Given the description of an element on the screen output the (x, y) to click on. 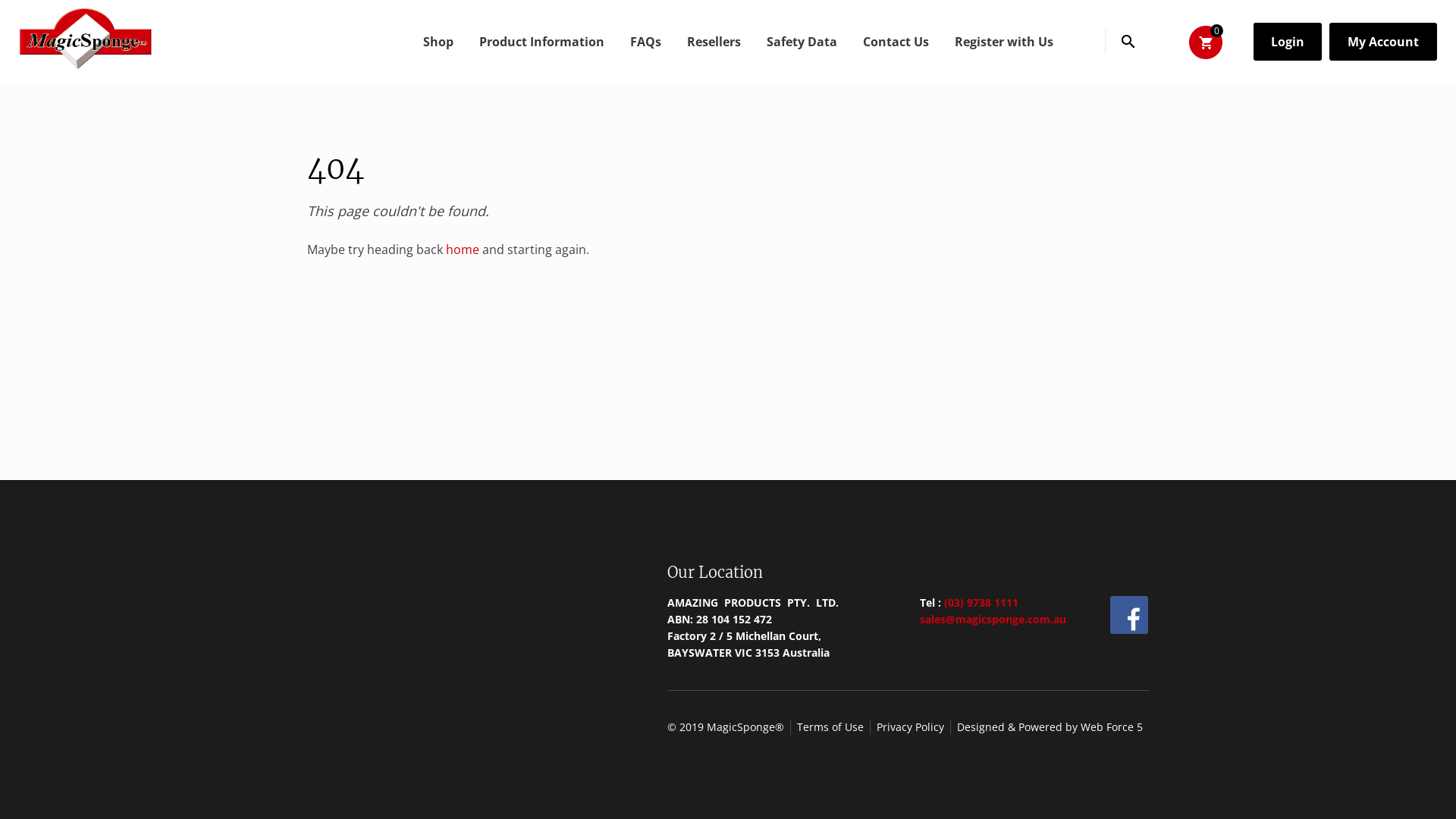
Contact Us Element type: text (895, 41)
sales@magicsponge.com.au Element type: text (992, 618)
Product Information Element type: text (541, 41)
(03) 9738 1111 Element type: text (980, 602)
Login Element type: text (1287, 41)
0 Element type: text (1205, 41)
Register with Us Element type: text (1003, 41)
home Element type: text (462, 249)
Terms of Use Element type: text (829, 726)
Privacy Policy Element type: text (909, 726)
My Account Element type: text (1383, 41)
Safety Data Element type: text (801, 41)
Designed & Powered by Web Force 5 Element type: text (1049, 726)
FAQs Element type: text (645, 41)
Shop Element type: text (438, 41)
Resellers Element type: text (713, 41)
